Given the description of an element on the screen output the (x, y) to click on. 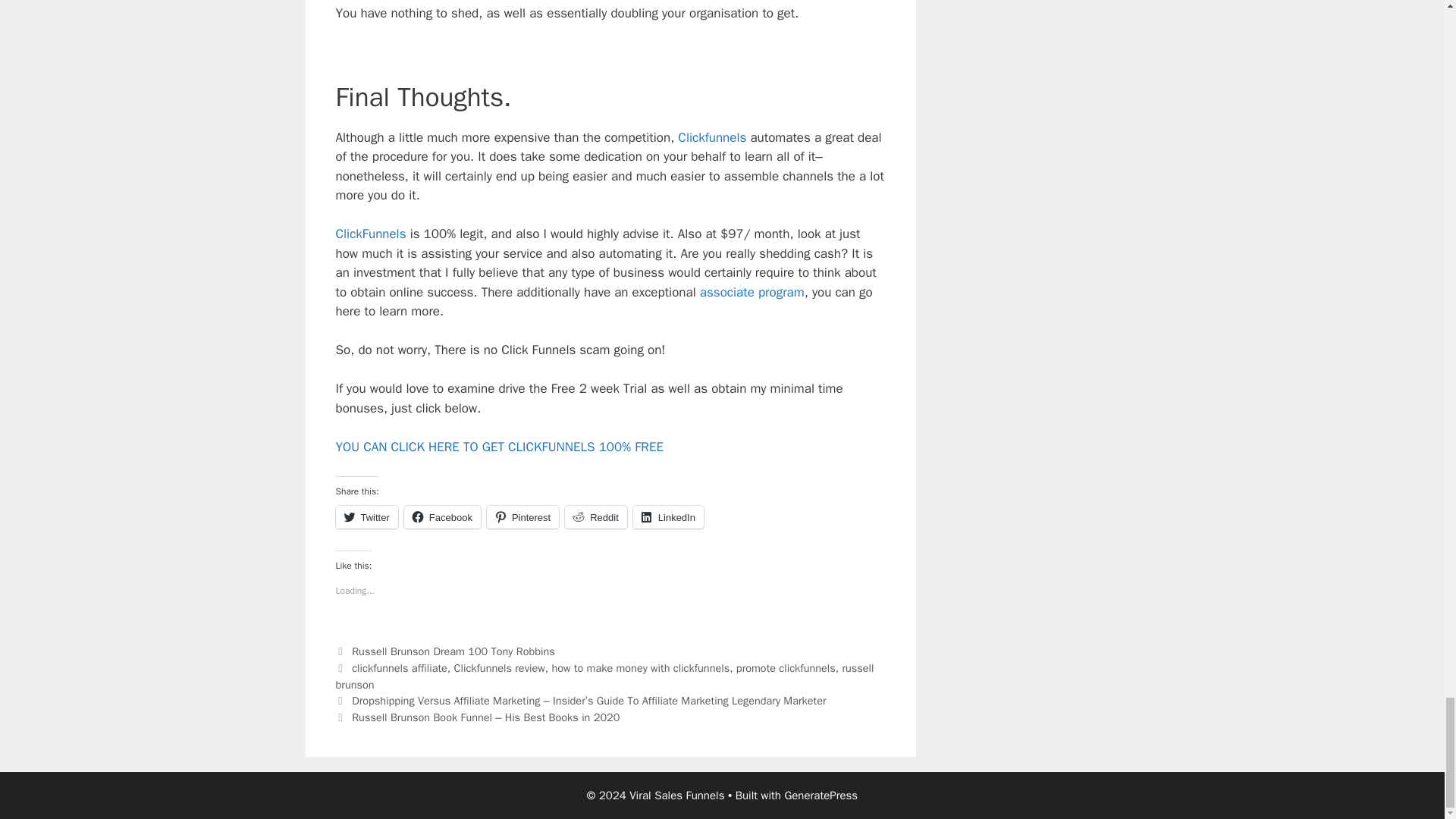
Click to share on Pinterest (522, 517)
Click to share on LinkedIn (668, 517)
Click to share on Twitter (365, 517)
Click to share on Facebook (442, 517)
Click to share on Reddit (595, 517)
